Given the description of an element on the screen output the (x, y) to click on. 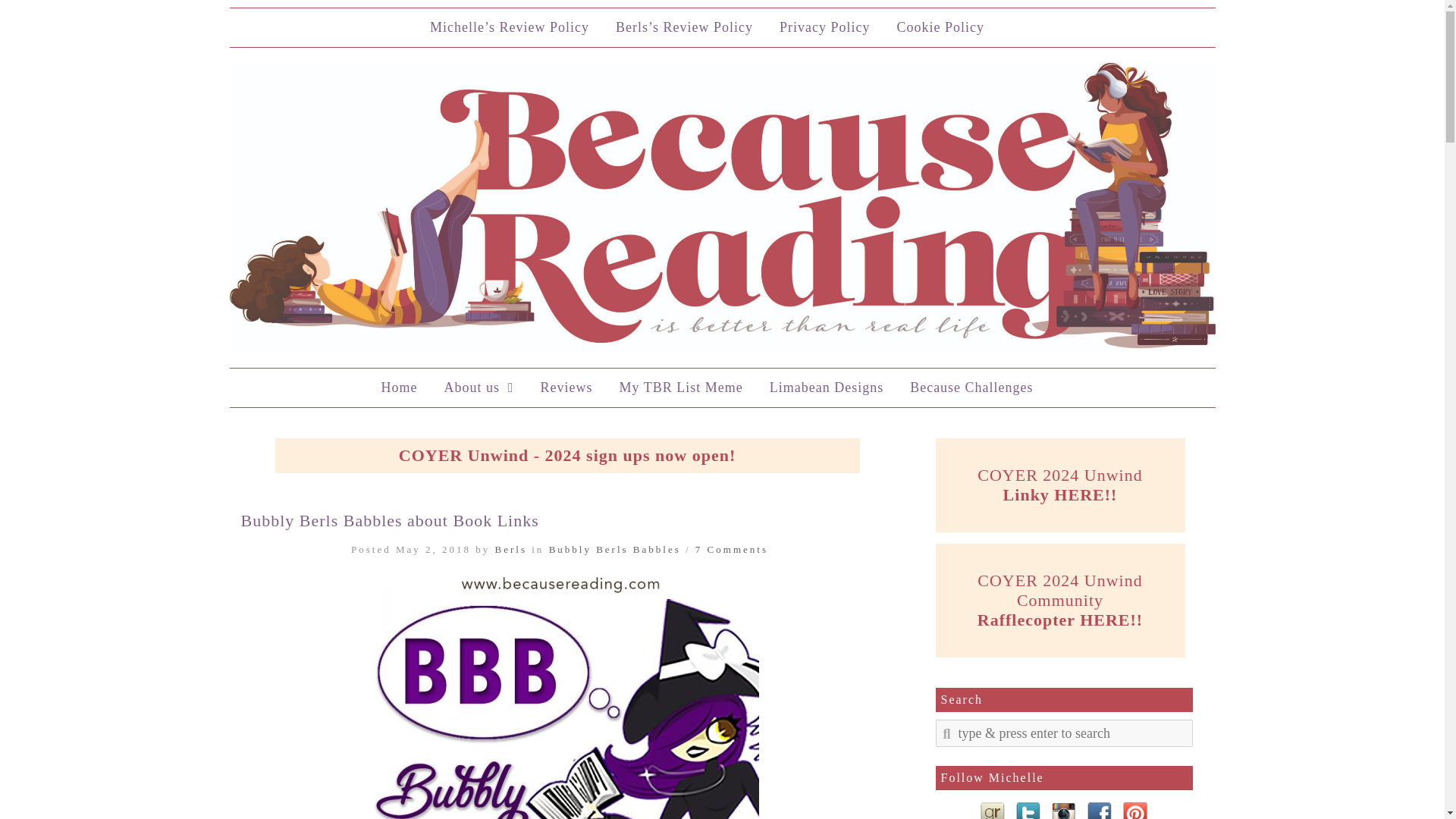
Home (398, 387)
My TBR List Meme (680, 387)
COYER Unwind - 2024 sign ups now open! (567, 455)
7 Comments (731, 549)
Because Challenges (970, 387)
About us   (478, 387)
Reviews (566, 387)
Berls (511, 549)
Cookie Policy (940, 27)
View all posts in Bubbly Berls Babbles (614, 549)
Privacy Policy (825, 27)
Limabean Designs (826, 387)
Bubbly Berls Babbles (614, 549)
